Given the description of an element on the screen output the (x, y) to click on. 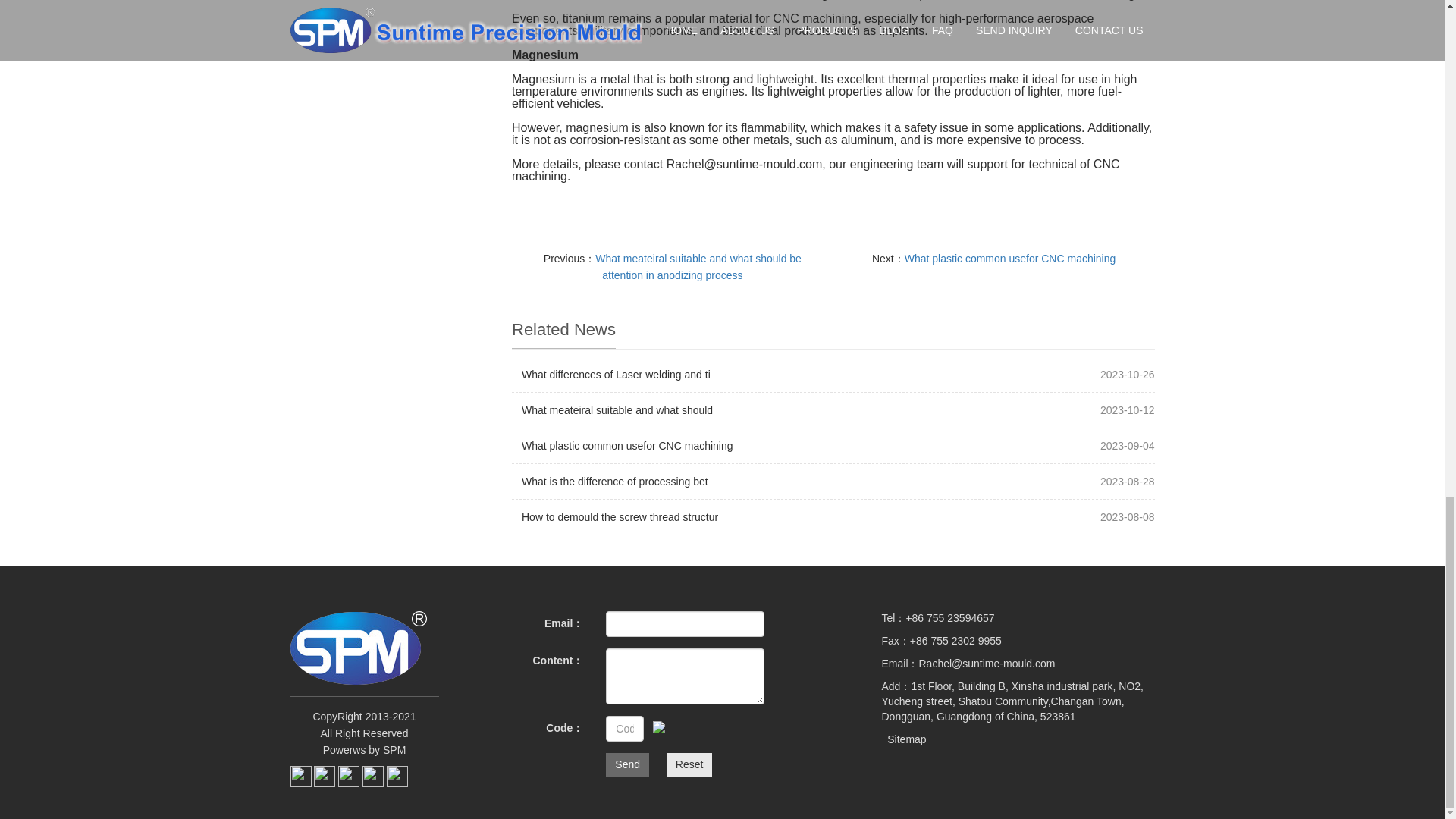
What meateiral suitable and what should (617, 410)
What differences of Laser welding and ti (615, 374)
How to demould the screw thread structure? (619, 517)
What plastic common usefor CNC machining (627, 445)
How to demould the screw thread structur (619, 517)
What is the difference of processing bet (614, 481)
What differences of Laser welding and tig welding? (615, 374)
What plastic common usefor CNC machining (1010, 258)
What plastic common usefor CNC machining (627, 445)
